Given the description of an element on the screen output the (x, y) to click on. 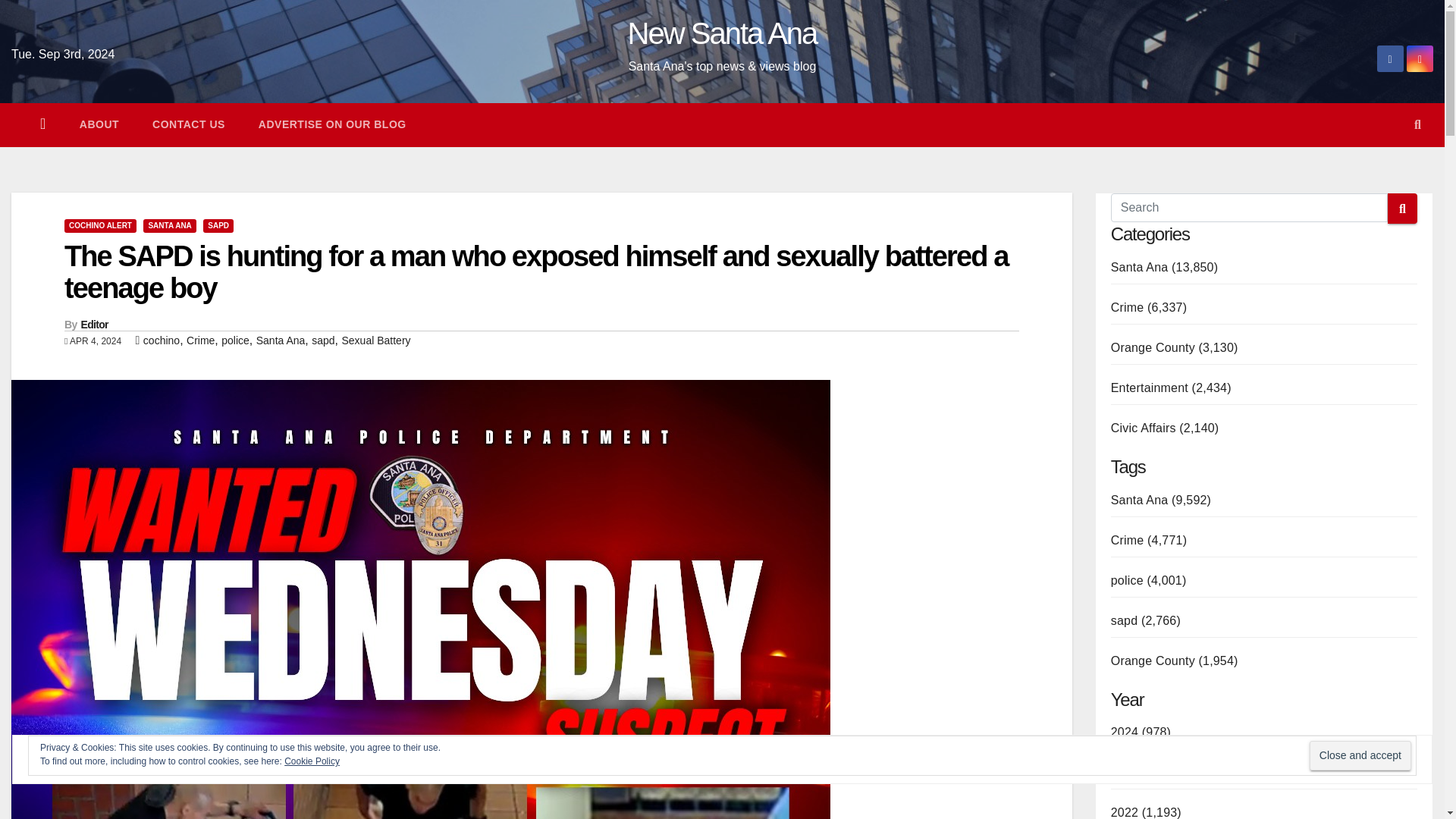
Crime (200, 340)
Close and accept (1359, 755)
About (98, 124)
ADVERTISE ON OUR BLOG (332, 124)
CONTACT US (188, 124)
sapd (322, 340)
cochino (160, 340)
ABOUT (98, 124)
Home (42, 124)
New Santa Ana (721, 32)
